Given the description of an element on the screen output the (x, y) to click on. 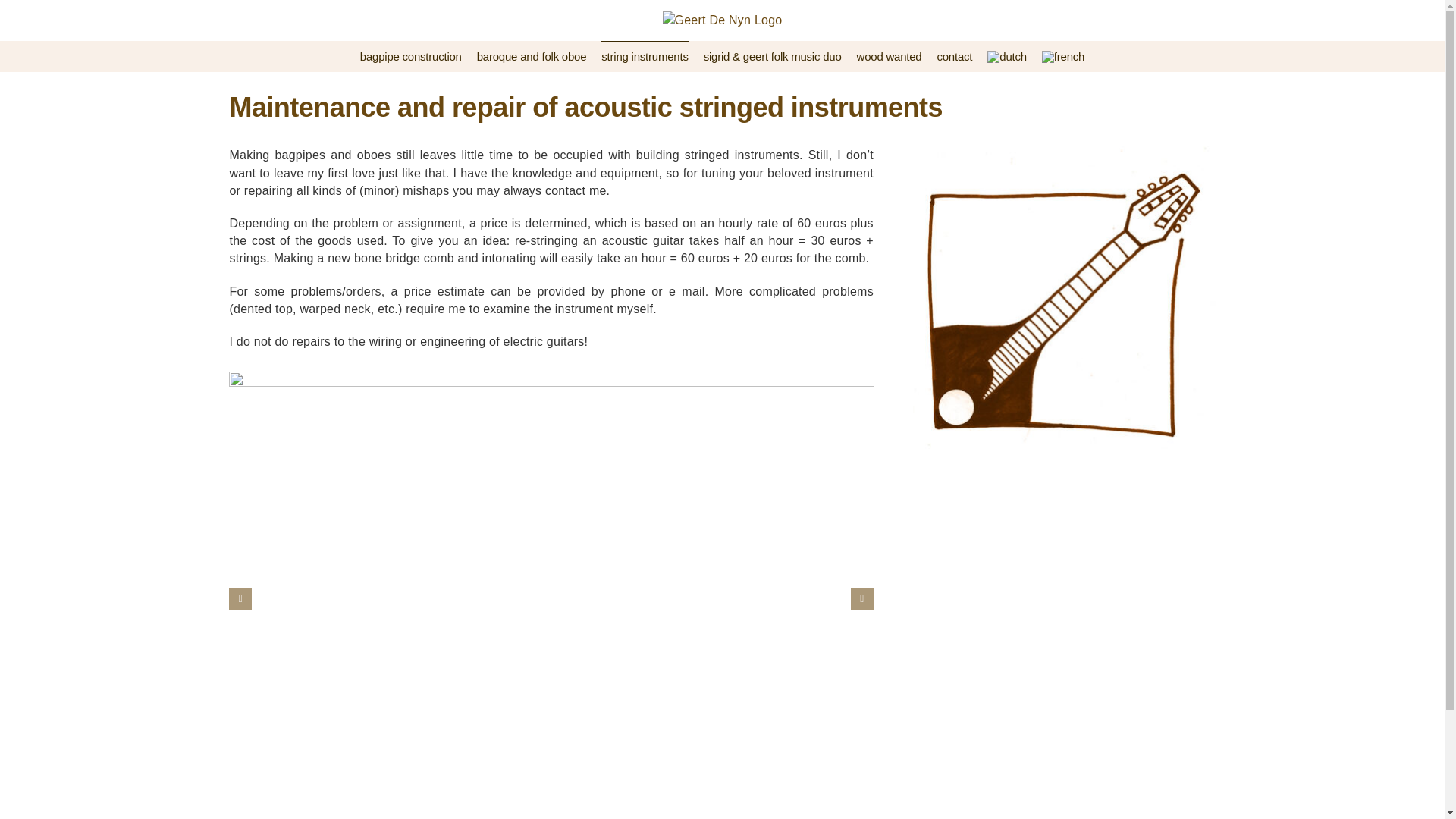
baroque and folk oboe (531, 55)
contact (954, 55)
bagpipe construction (410, 55)
string instruments (644, 55)
snaarinstrumenten (1063, 297)
wood wanted (889, 55)
